Given the description of an element on the screen output the (x, y) to click on. 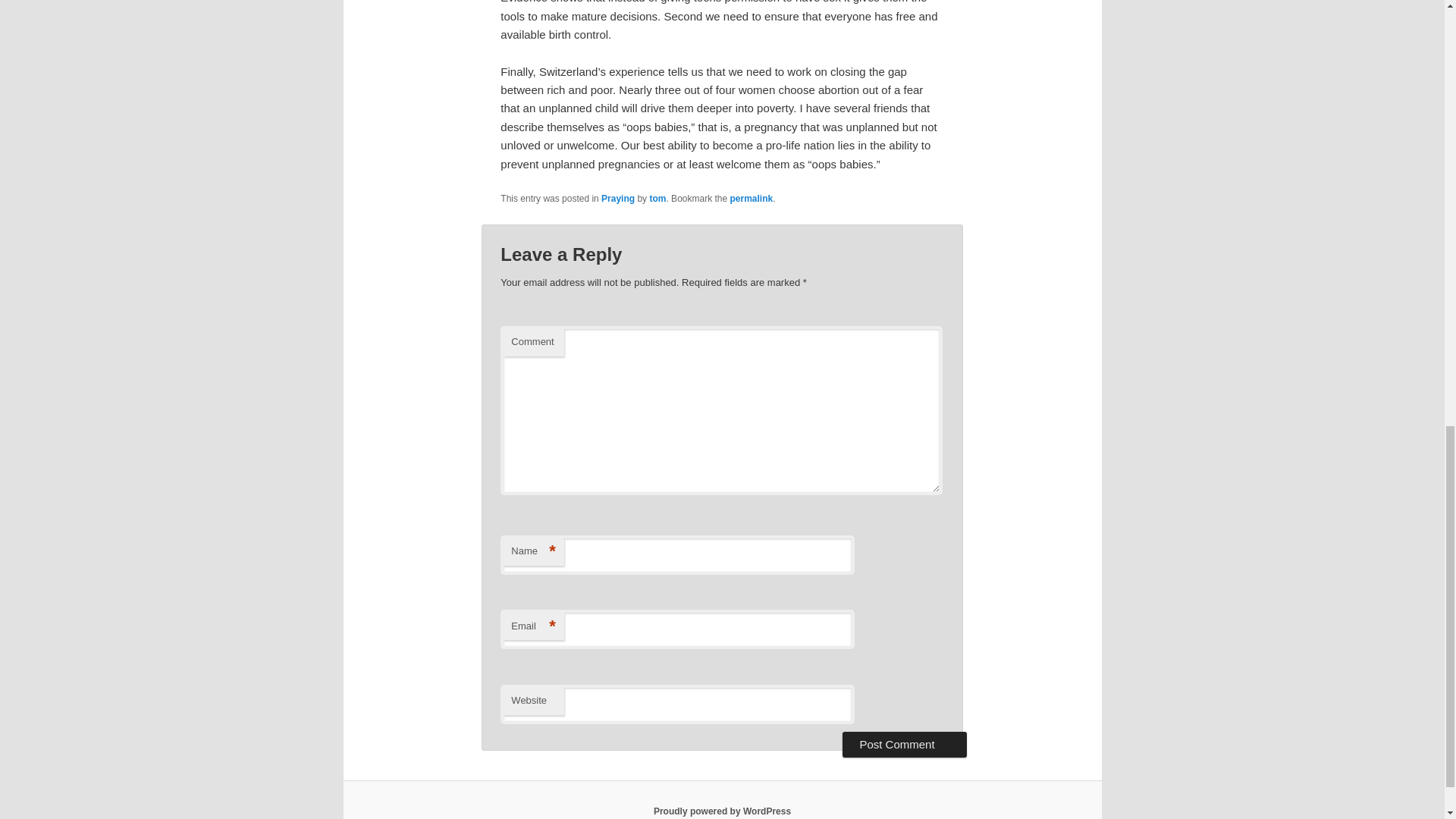
Proudly powered by WordPress (721, 810)
tom (657, 198)
Post Comment (904, 744)
Permalink to Observations on Roe v. Wade 49 Years Later (751, 198)
permalink (751, 198)
Praying (617, 198)
Semantic Personal Publishing Platform (721, 810)
Post Comment (904, 744)
